Given the description of an element on the screen output the (x, y) to click on. 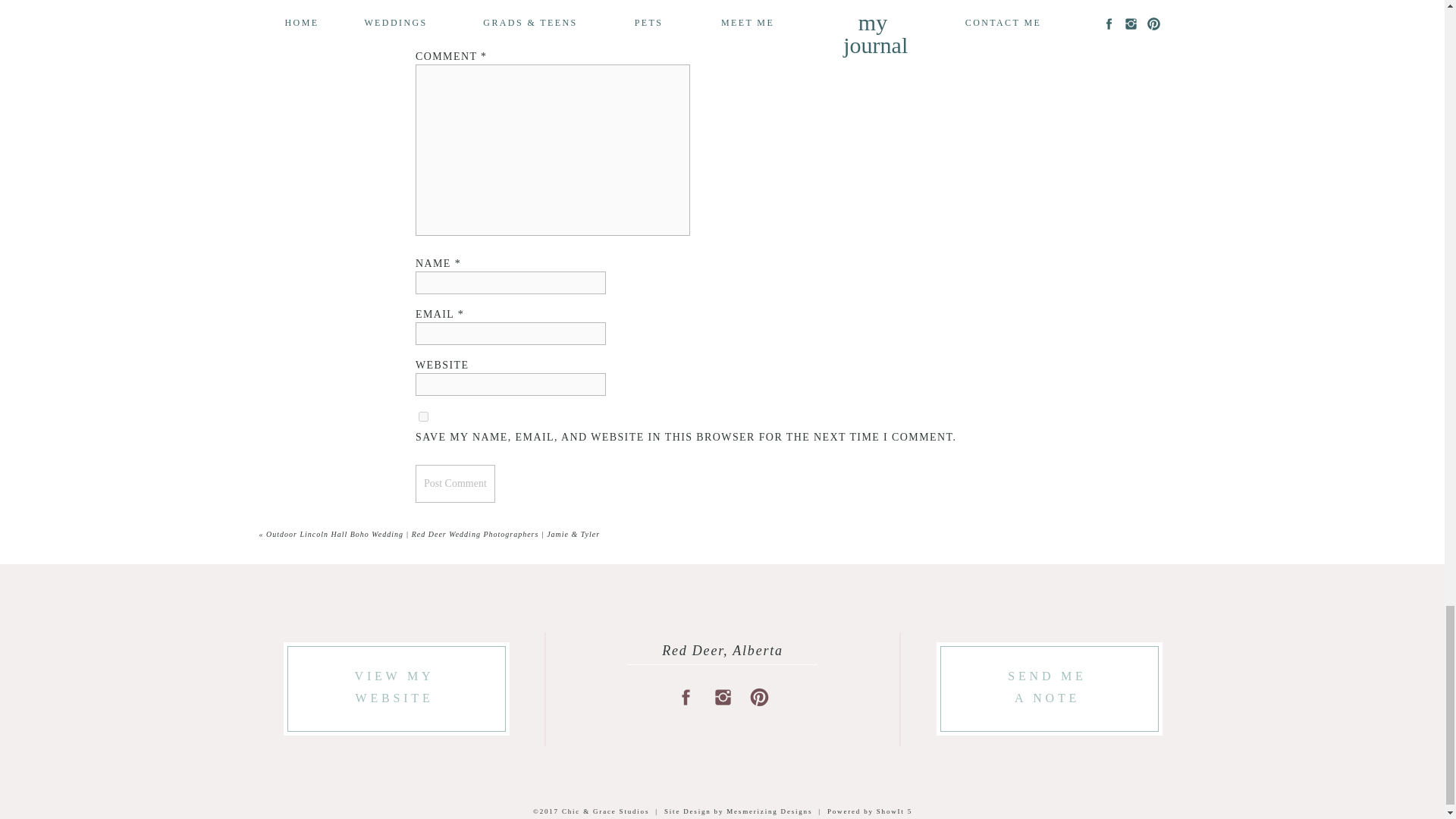
Post Comment (454, 483)
yes (423, 416)
Site Design by Mesmerizing Designs (737, 810)
Post Comment (454, 483)
